Given the description of an element on the screen output the (x, y) to click on. 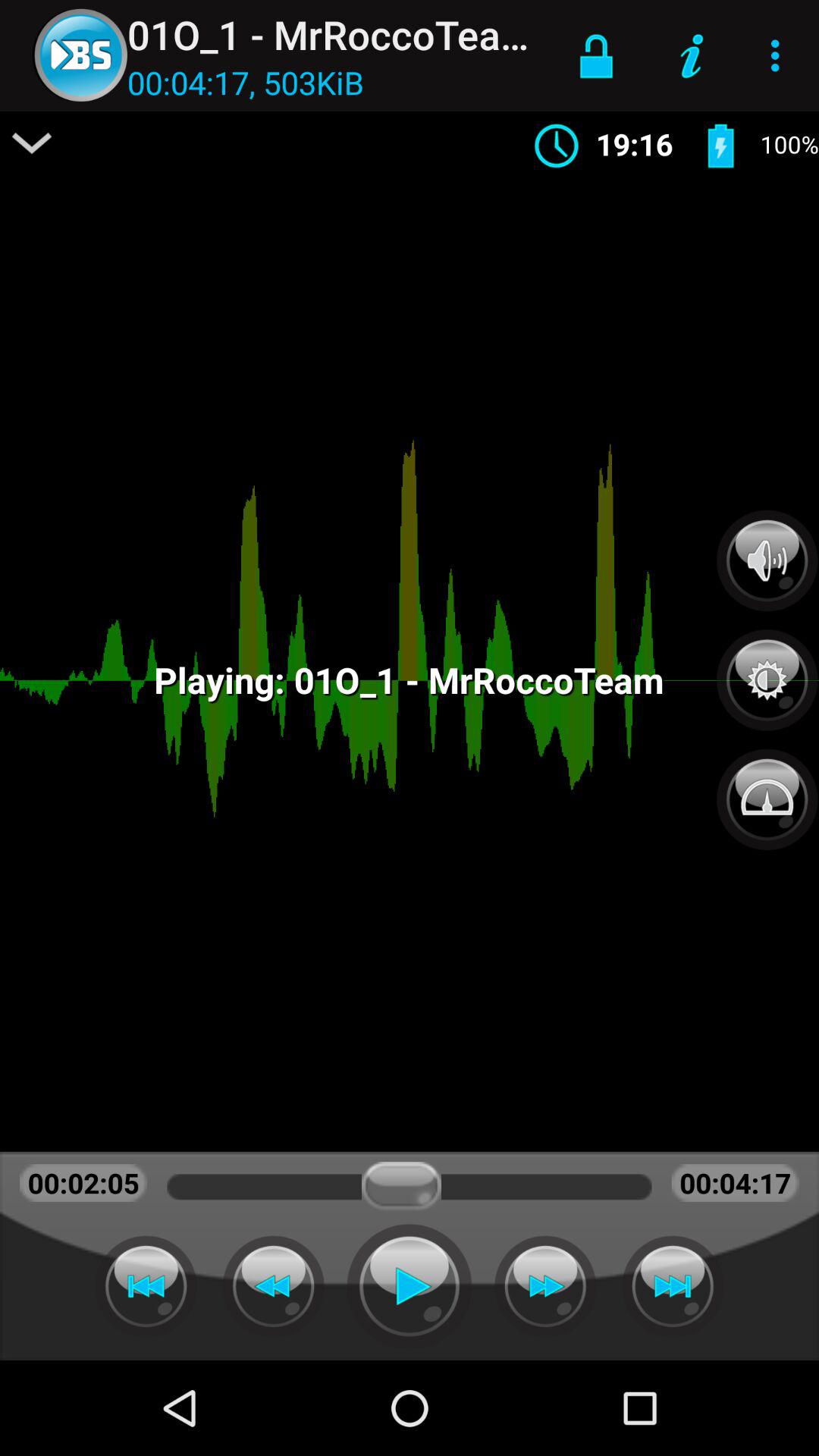
toggle fast forward (545, 1286)
